Given the description of an element on the screen output the (x, y) to click on. 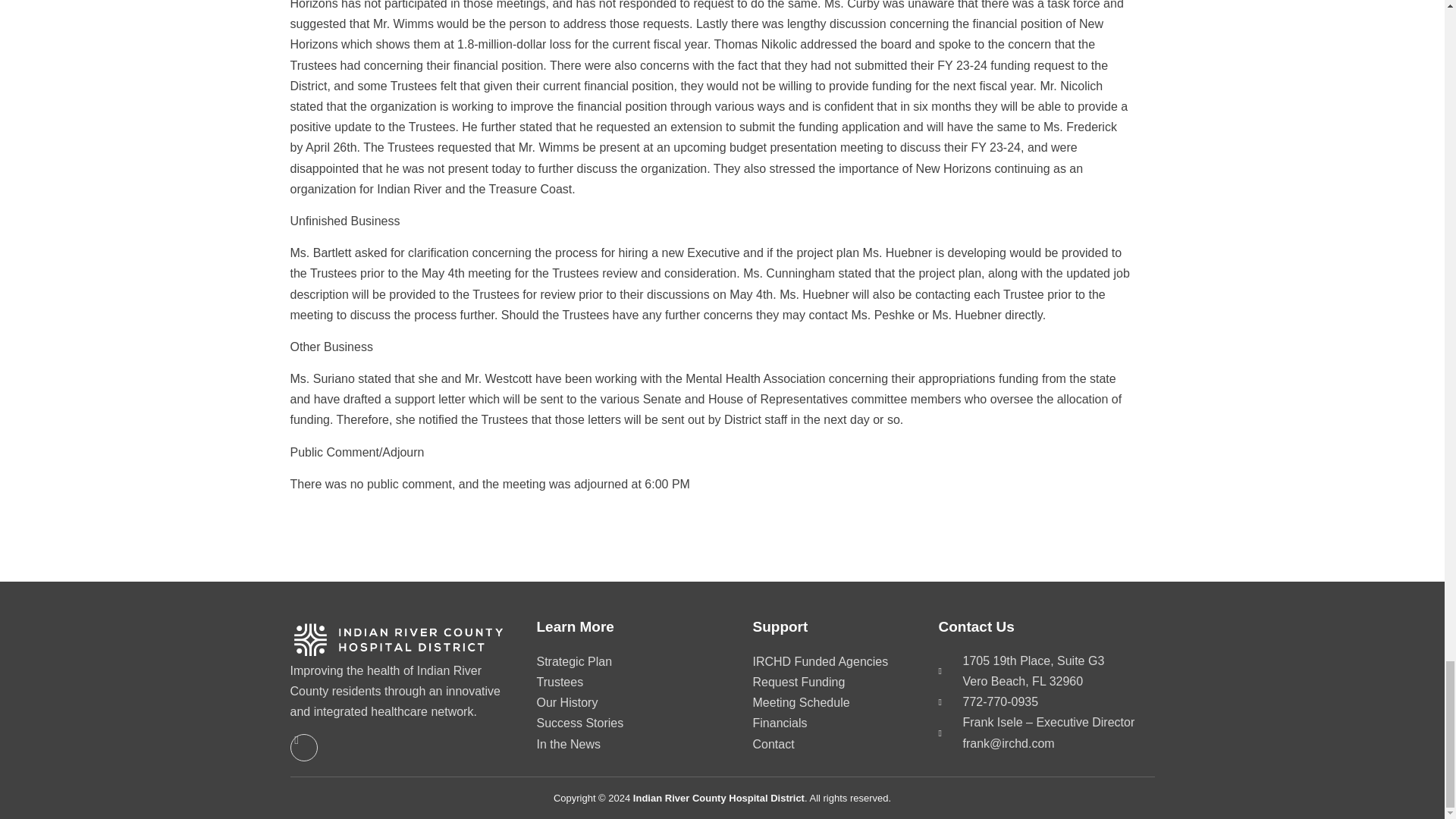
Success Stories (615, 722)
Our History (615, 702)
IRCHD Funded Agencies (829, 661)
772-770-0935 (1046, 701)
Request Funding (829, 681)
Financials (829, 722)
Trustees (615, 681)
Contact (829, 744)
Meeting Schedule (829, 702)
Strategic Plan (615, 661)
In the News (615, 744)
